Given the description of an element on the screen output the (x, y) to click on. 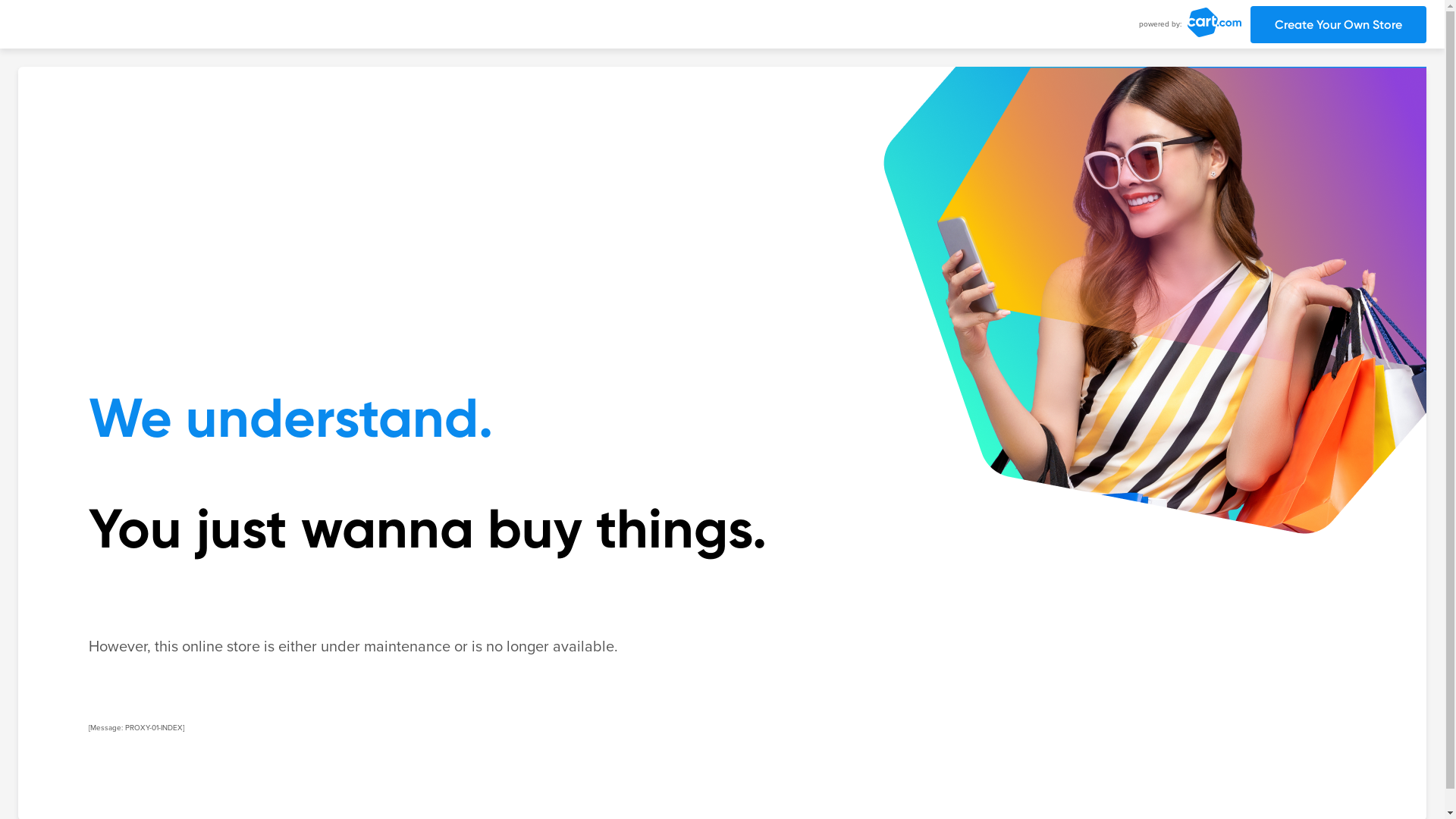
Create Your Own Store Element type: text (1338, 24)
